Given the description of an element on the screen output the (x, y) to click on. 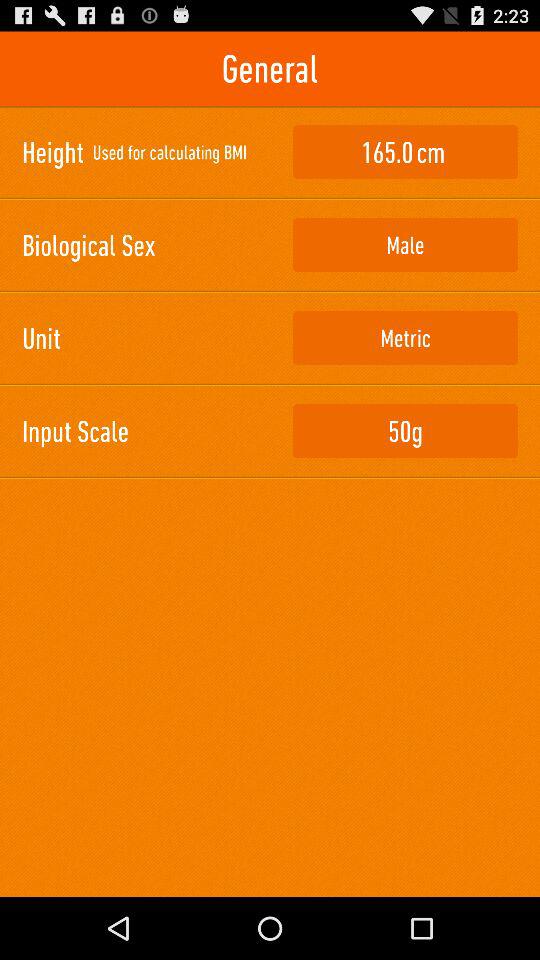
select height (405, 152)
